Given the description of an element on the screen output the (x, y) to click on. 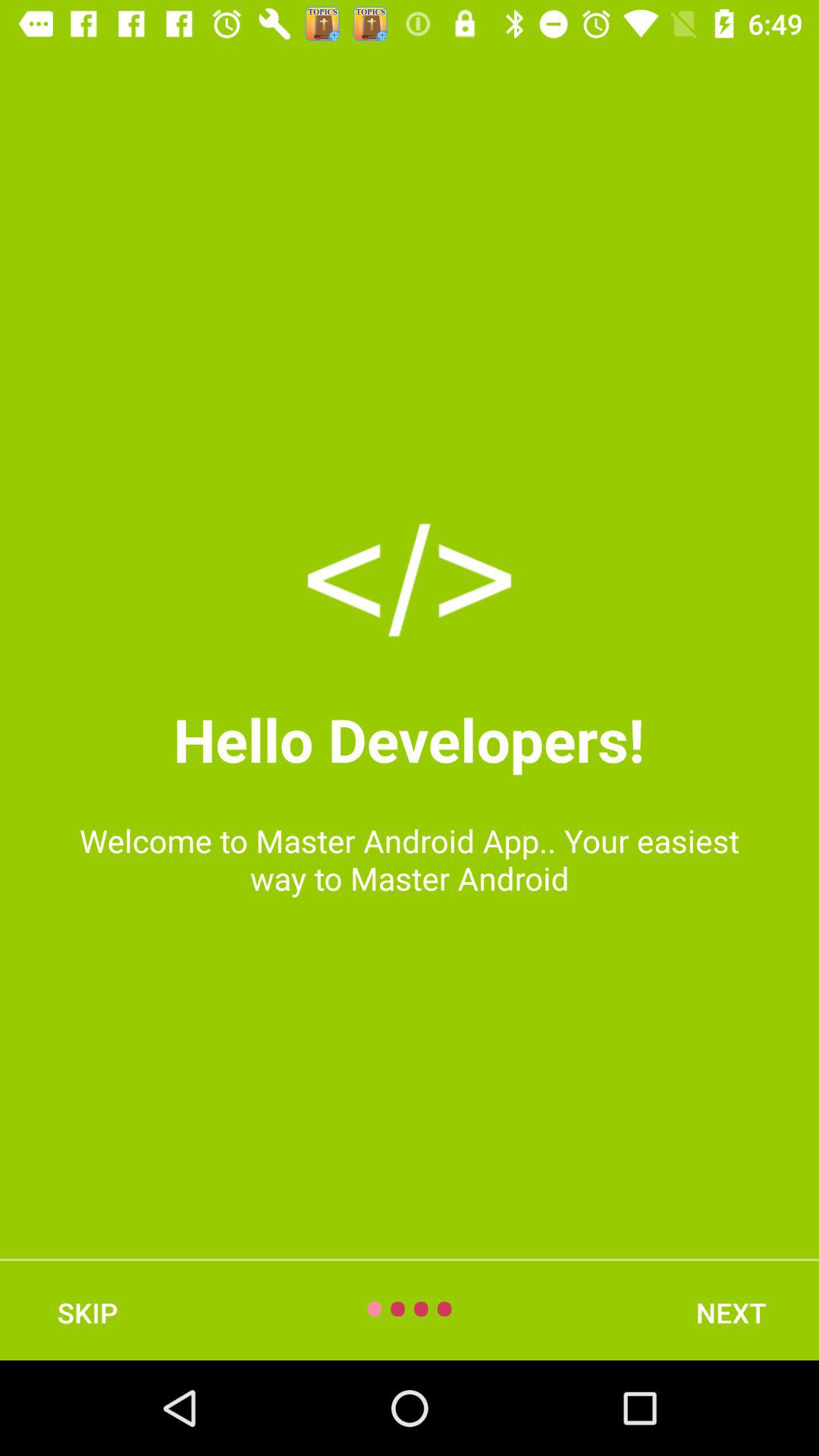
jump to the skip (87, 1312)
